Given the description of an element on the screen output the (x, y) to click on. 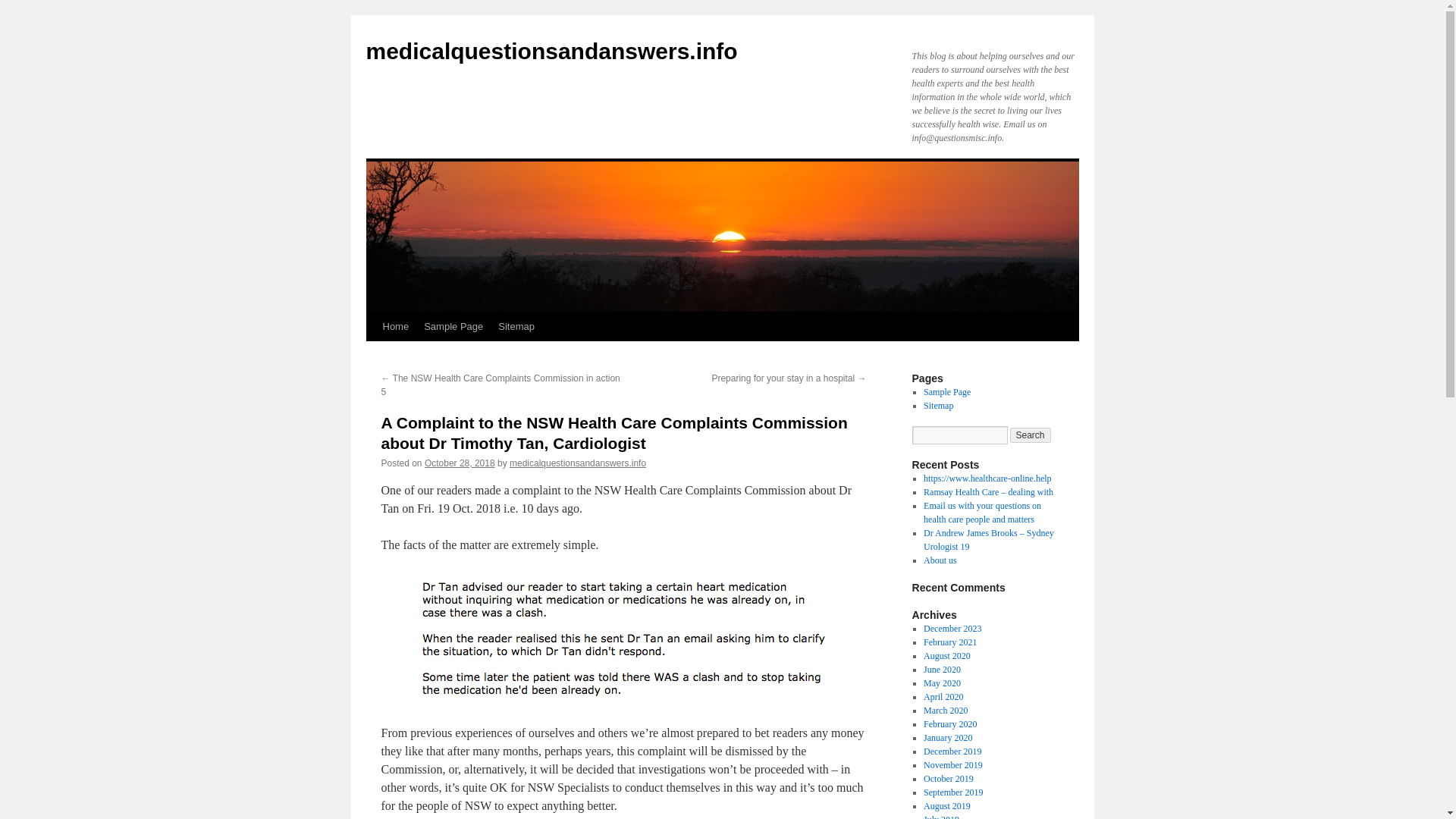
medicalquestionsandanswers.info (550, 50)
March 2020 (945, 710)
Sample Page (947, 391)
Sitemap (938, 405)
August 2019 (947, 805)
medicalquestionsandanswers.info (550, 50)
View all posts by medicalquestionsandanswers.info (577, 462)
April 2020 (942, 696)
Home (395, 326)
About us (939, 560)
October 28, 2018 (460, 462)
December 2023 (952, 628)
11:49 pm (460, 462)
December 2019 (952, 751)
February 2020 (949, 724)
